Given the description of an element on the screen output the (x, y) to click on. 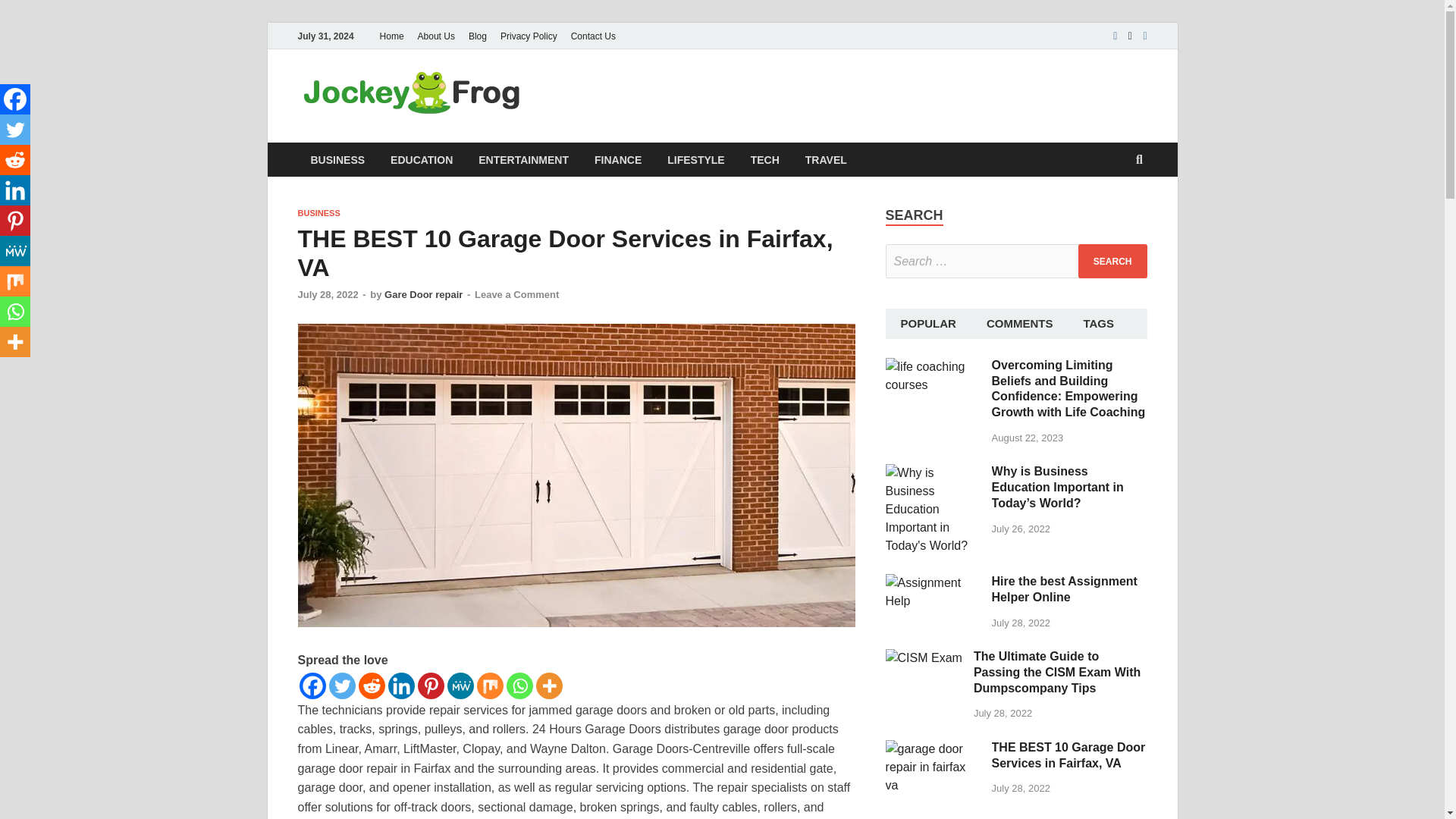
Whatsapp (519, 685)
LIFESTYLE (694, 159)
Pinterest (15, 220)
More (548, 685)
MeWe (15, 250)
Gare Door repair (423, 294)
Mix (489, 685)
Search (1112, 261)
TECH (765, 159)
Leave a Comment (516, 294)
Blog (477, 35)
Twitter (15, 129)
Facebook (15, 99)
About Us (435, 35)
BUSINESS (337, 159)
